Given the description of an element on the screen output the (x, y) to click on. 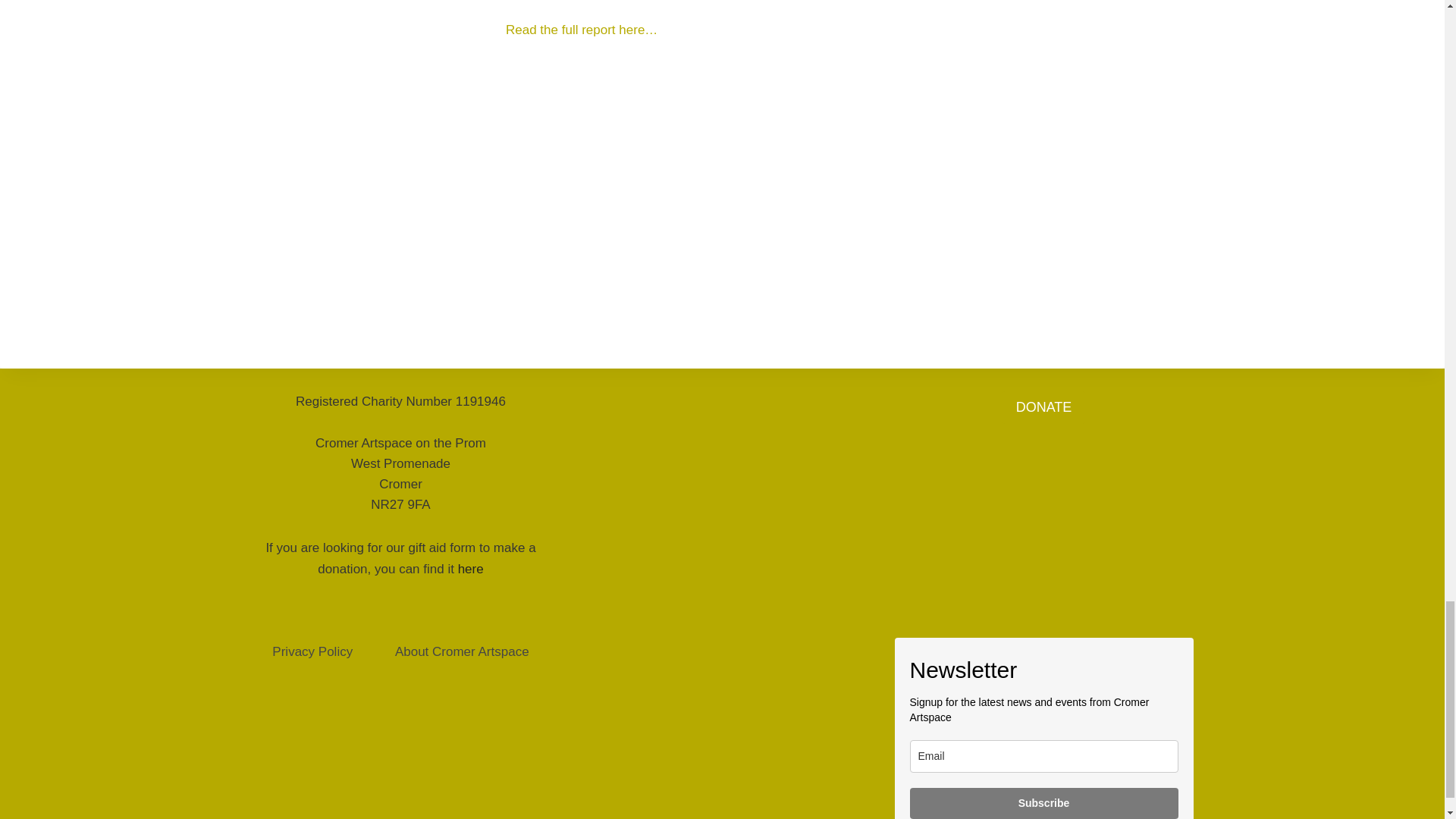
here (470, 568)
